Given the description of an element on the screen output the (x, y) to click on. 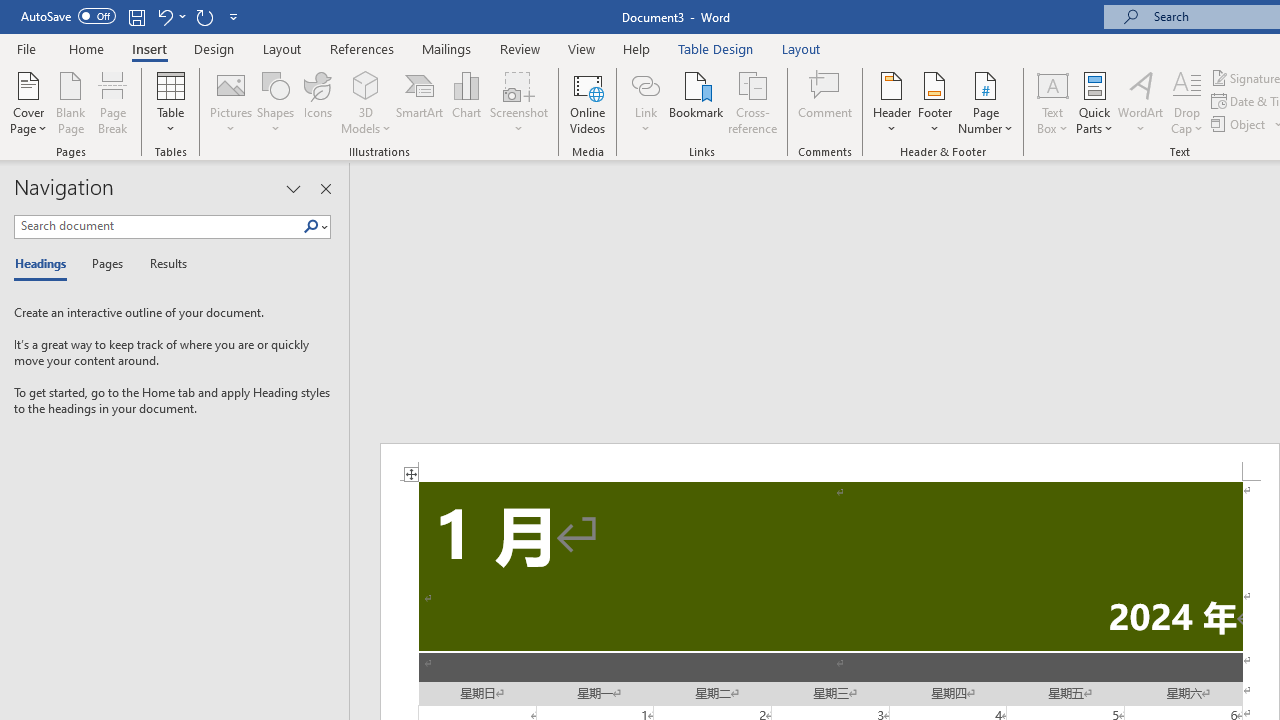
Design (214, 48)
Link (645, 84)
SmartArt... (419, 102)
Header -Section 1- (830, 461)
Task Pane Options (293, 188)
System (10, 11)
Object... (1240, 124)
References (362, 48)
Undo Increase Indent (170, 15)
Shapes (275, 102)
Pages (105, 264)
Footer (934, 102)
Screenshot (518, 102)
Text Box (1052, 102)
Page Break (113, 102)
